Given the description of an element on the screen output the (x, y) to click on. 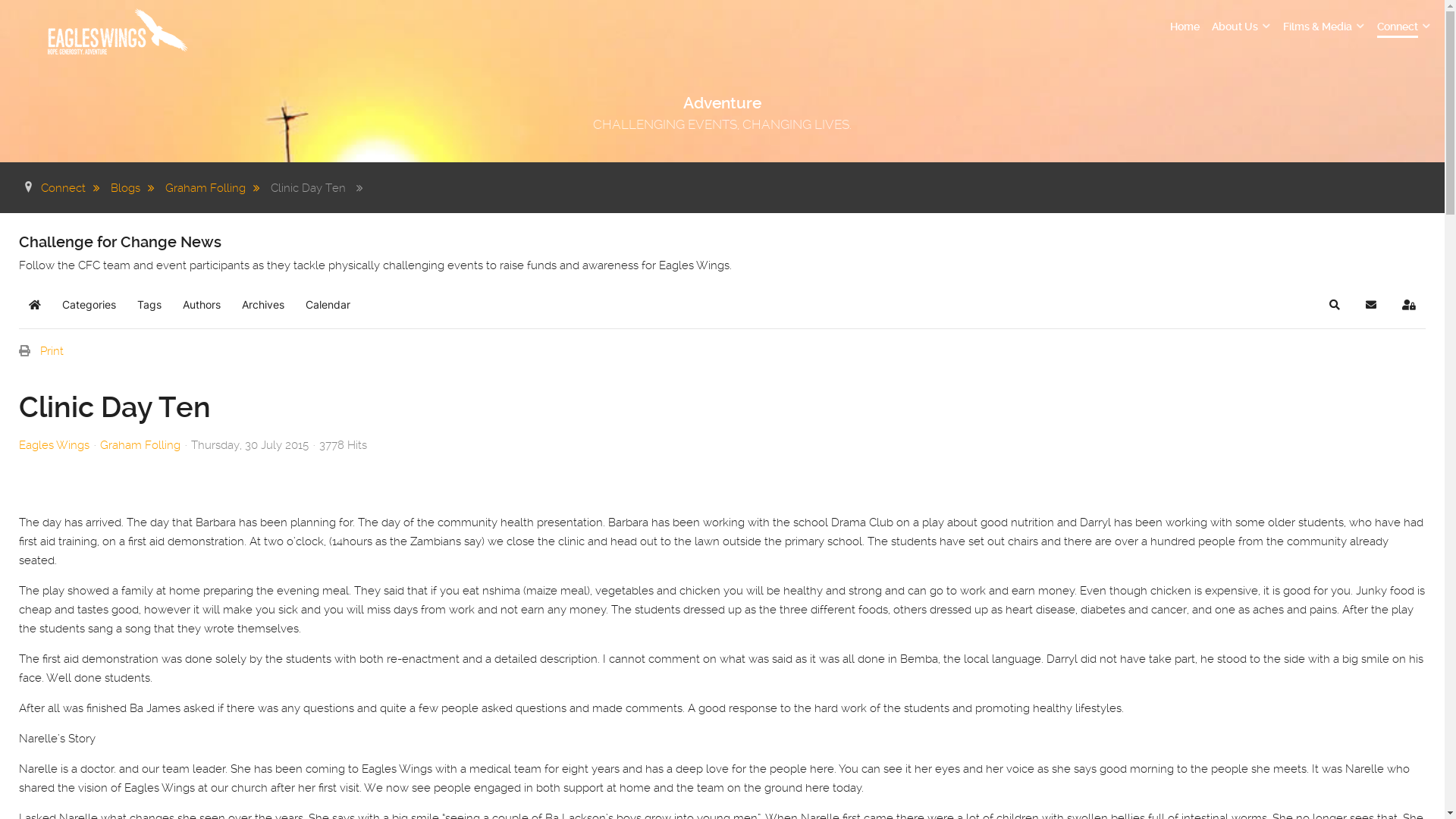
Films & Media Element type: text (1324, 26)
Print Element type: text (51, 350)
Archives Element type: text (263, 304)
Categories Element type: text (88, 304)
About Us Element type: text (1241, 26)
Blogs Element type: text (136, 187)
Graham Folling Element type: text (140, 444)
Eagles Wings Element type: text (53, 445)
Connect Element type: text (1404, 26)
Connect Element type: text (73, 187)
Graham Folling Element type: text (216, 187)
Calendar Element type: text (327, 304)
Authors Element type: text (201, 304)
Home Element type: text (1184, 26)
Tags Element type: text (149, 304)
